Given the description of an element on the screen output the (x, y) to click on. 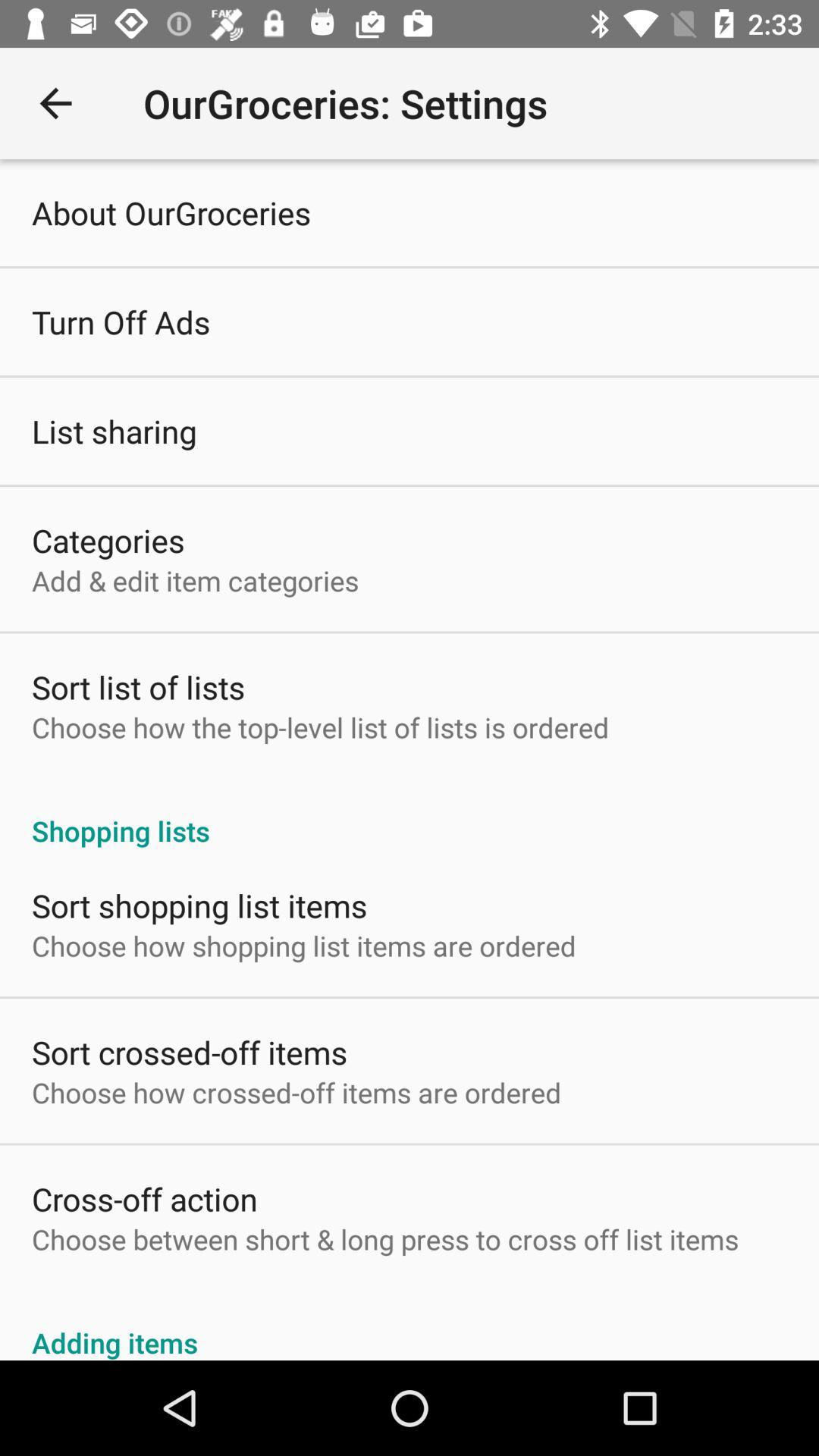
turn on add edit item item (194, 580)
